Given the description of an element on the screen output the (x, y) to click on. 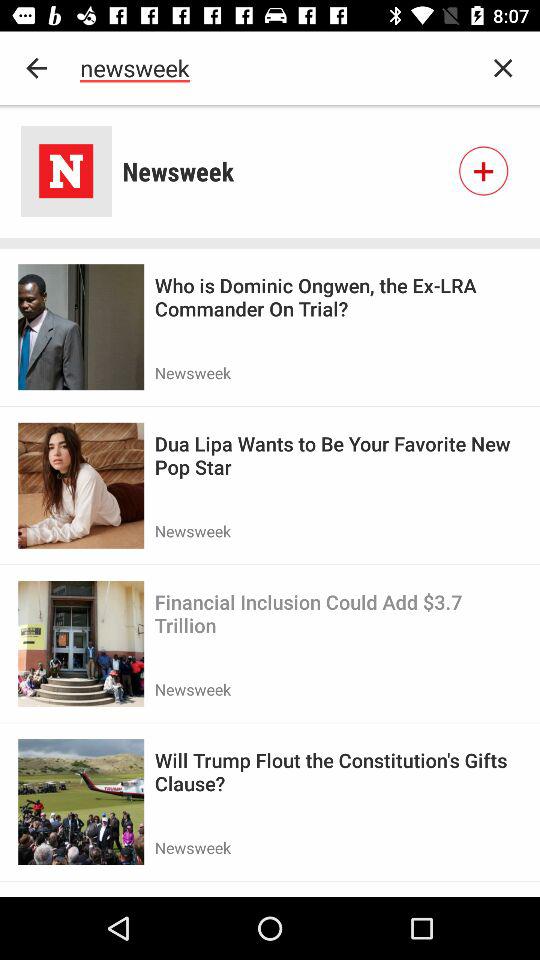
click on close button (504, 67)
